Given the description of an element on the screen output the (x, y) to click on. 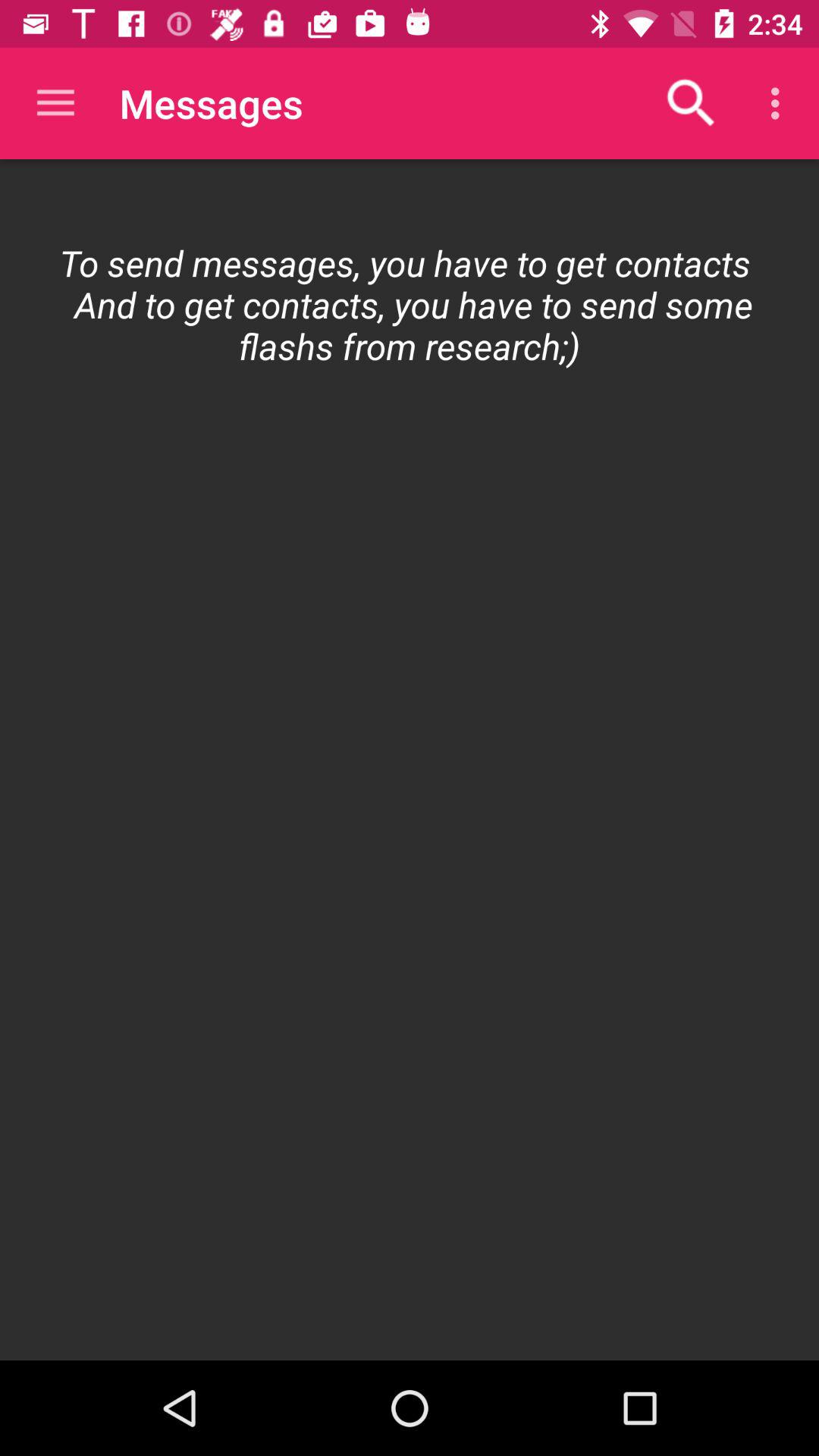
launch icon above the to send messages (691, 103)
